Given the description of an element on the screen output the (x, y) to click on. 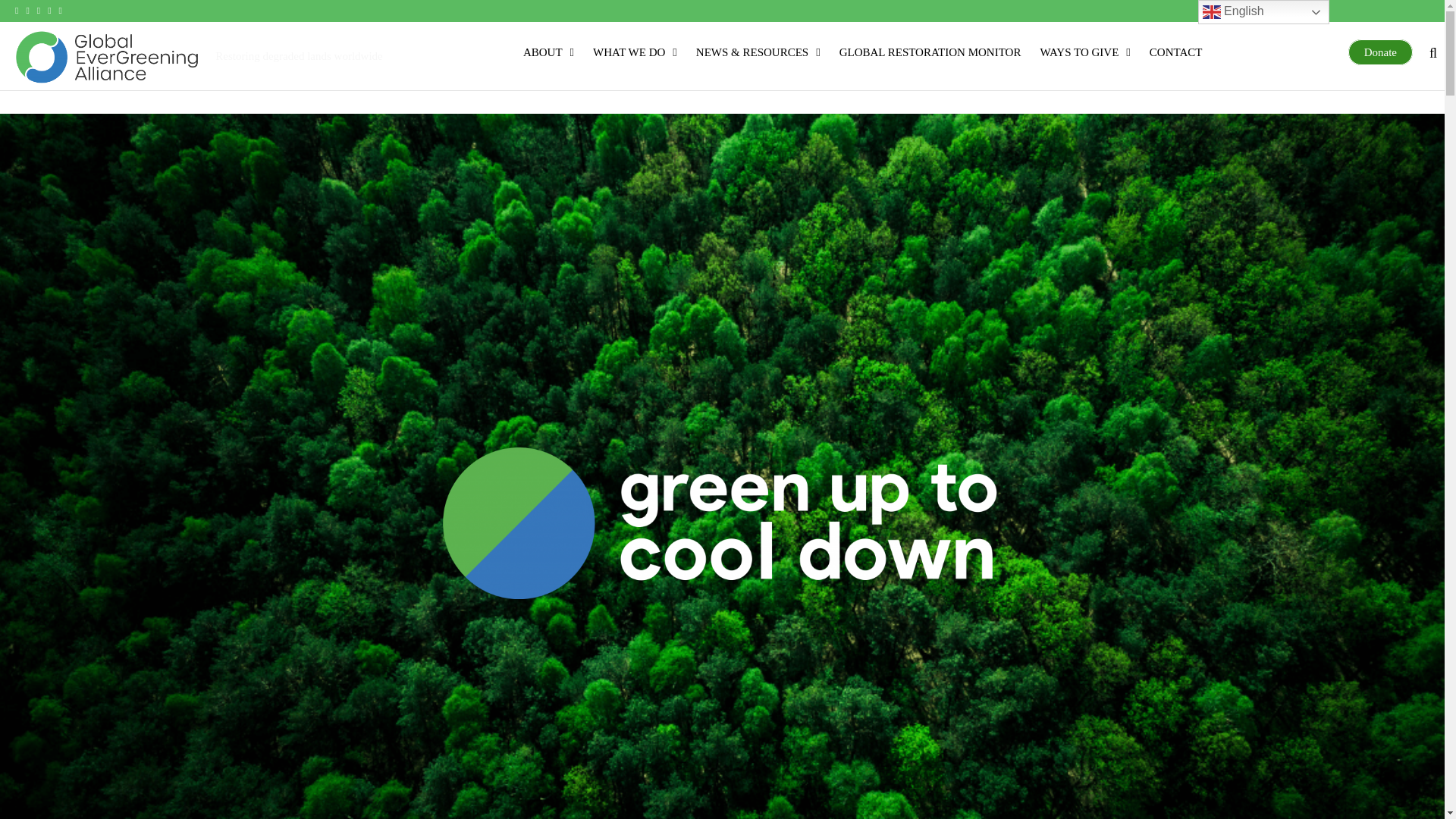
WHAT WE DO (632, 48)
WAYS TO GIVE (1082, 48)
Global EverGreening Alliance (274, 83)
ABOUT (546, 48)
GLOBAL RESTORATION MONITOR (928, 48)
Donate (1380, 52)
CONTACT (1173, 48)
WHAT WE DO (632, 48)
ABOUT (546, 48)
